Given the description of an element on the screen output the (x, y) to click on. 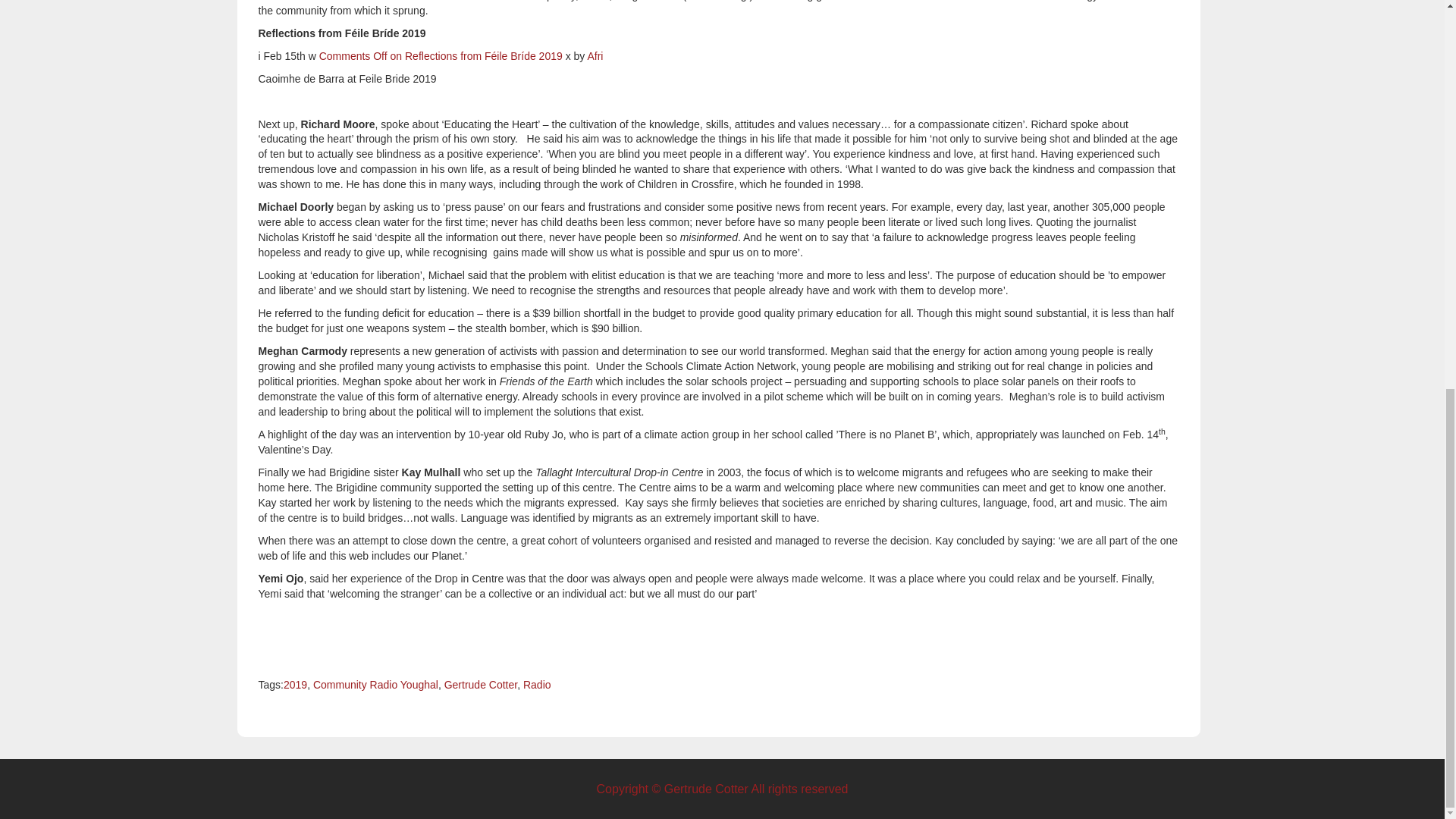
Afri (594, 55)
2019 (295, 684)
Radio (536, 684)
Gertrude Cotter (481, 684)
Community Radio Youghal (375, 684)
